Given the description of an element on the screen output the (x, y) to click on. 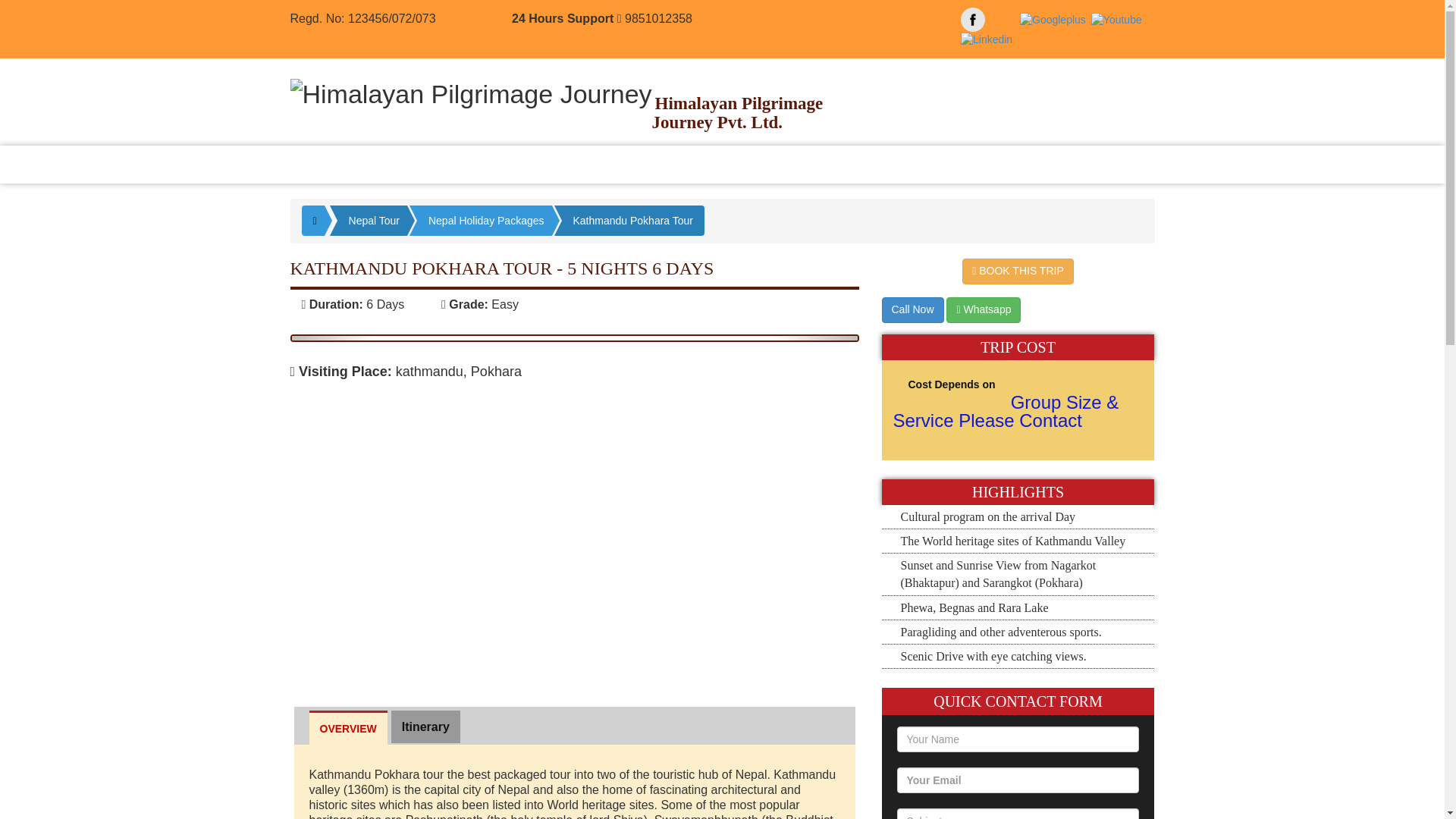
ABOUT US (390, 164)
NEPAL TOURS (478, 164)
KAILASH TOUR (804, 164)
About Us (390, 164)
TREKKING (571, 164)
PILGRIMAGE TOURS (681, 164)
Linkedin (985, 39)
Facebook (972, 19)
HOME (327, 164)
Youtube (1115, 19)
